Given the description of an element on the screen output the (x, y) to click on. 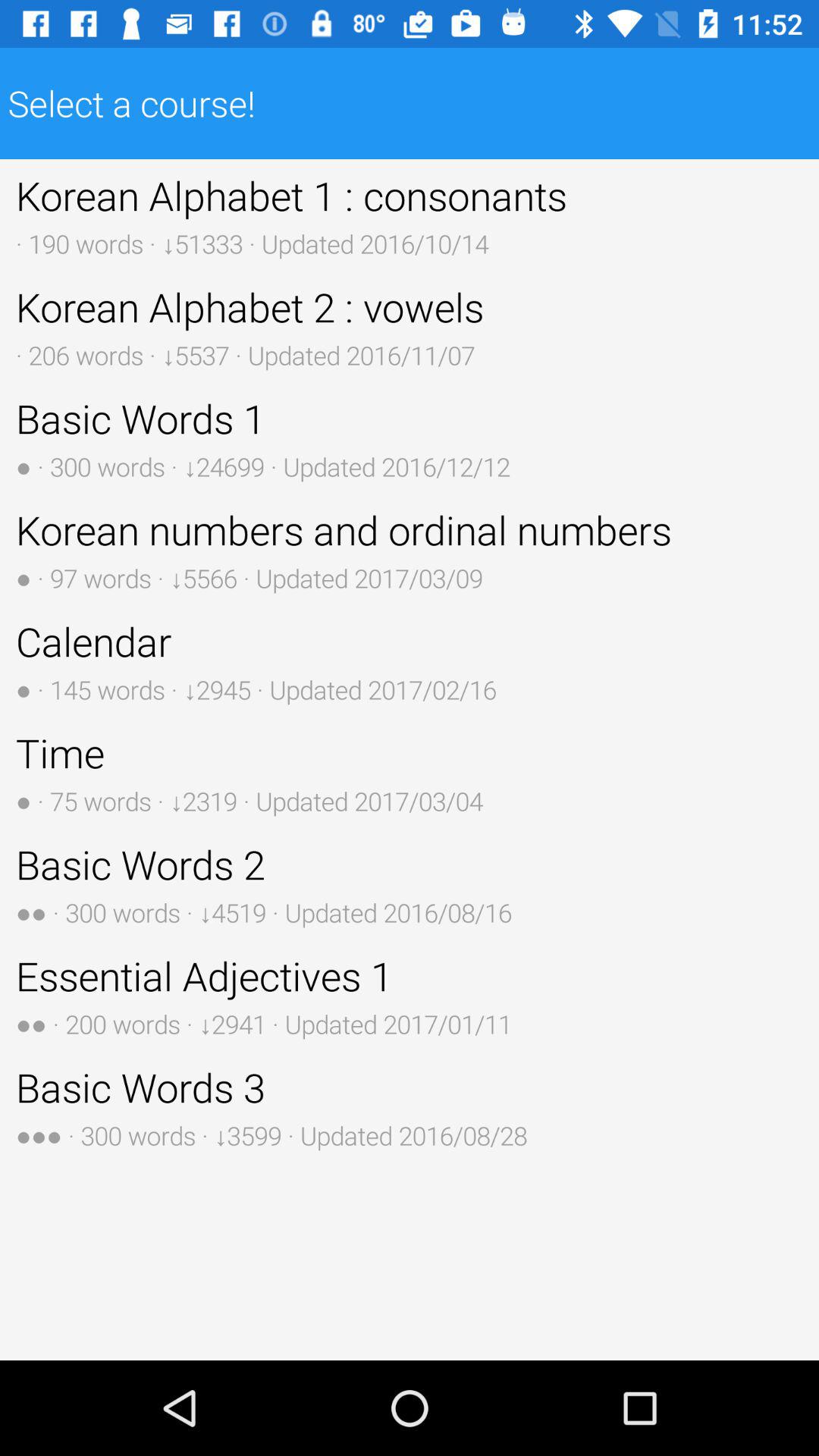
press the icon below the basic words 2 button (409, 995)
